Given the description of an element on the screen output the (x, y) to click on. 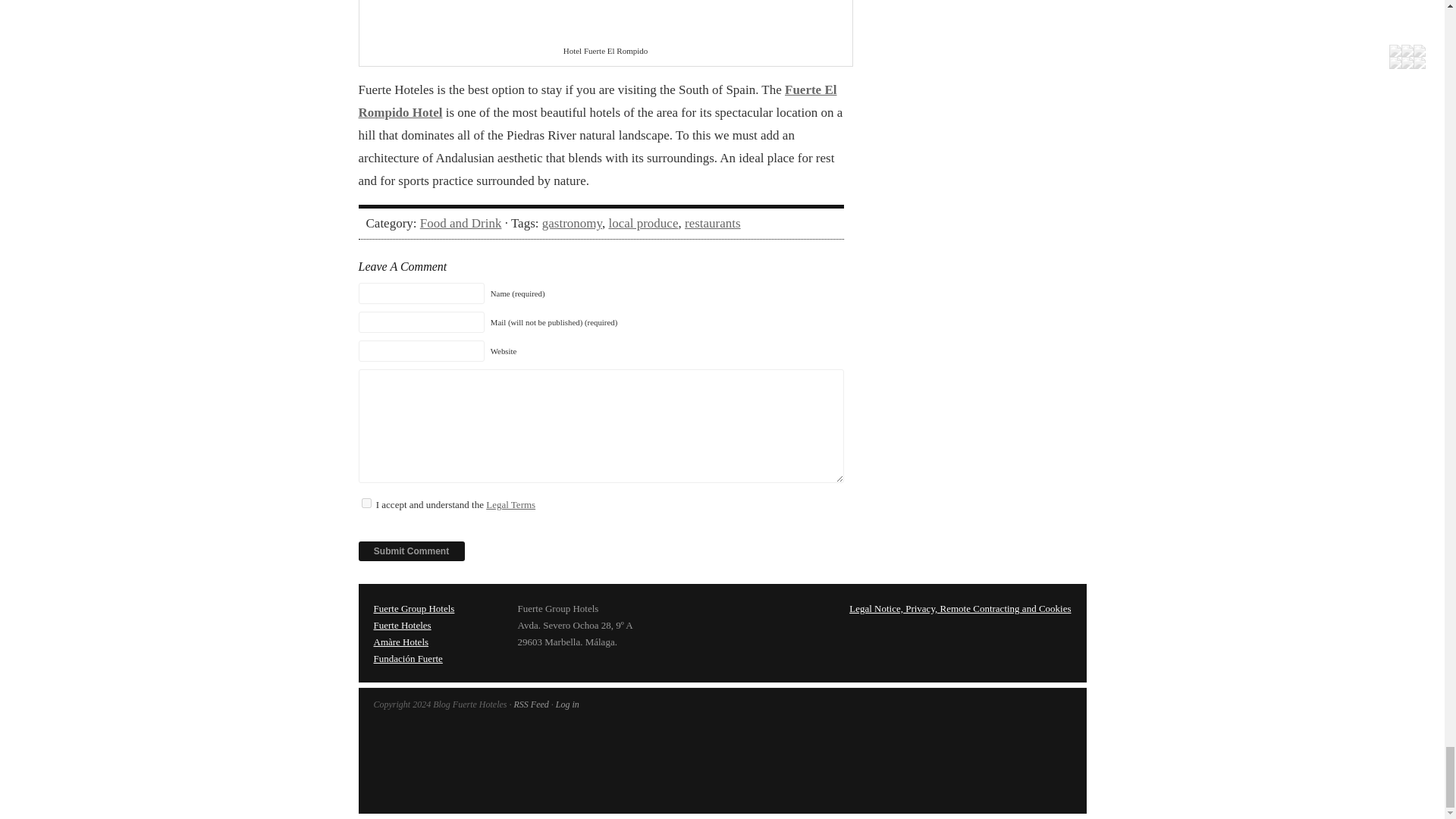
Fuerte Hoteles (401, 624)
Submit Comment (411, 551)
Fuerte Group Hotels (413, 608)
1 (366, 502)
